Given the description of an element on the screen output the (x, y) to click on. 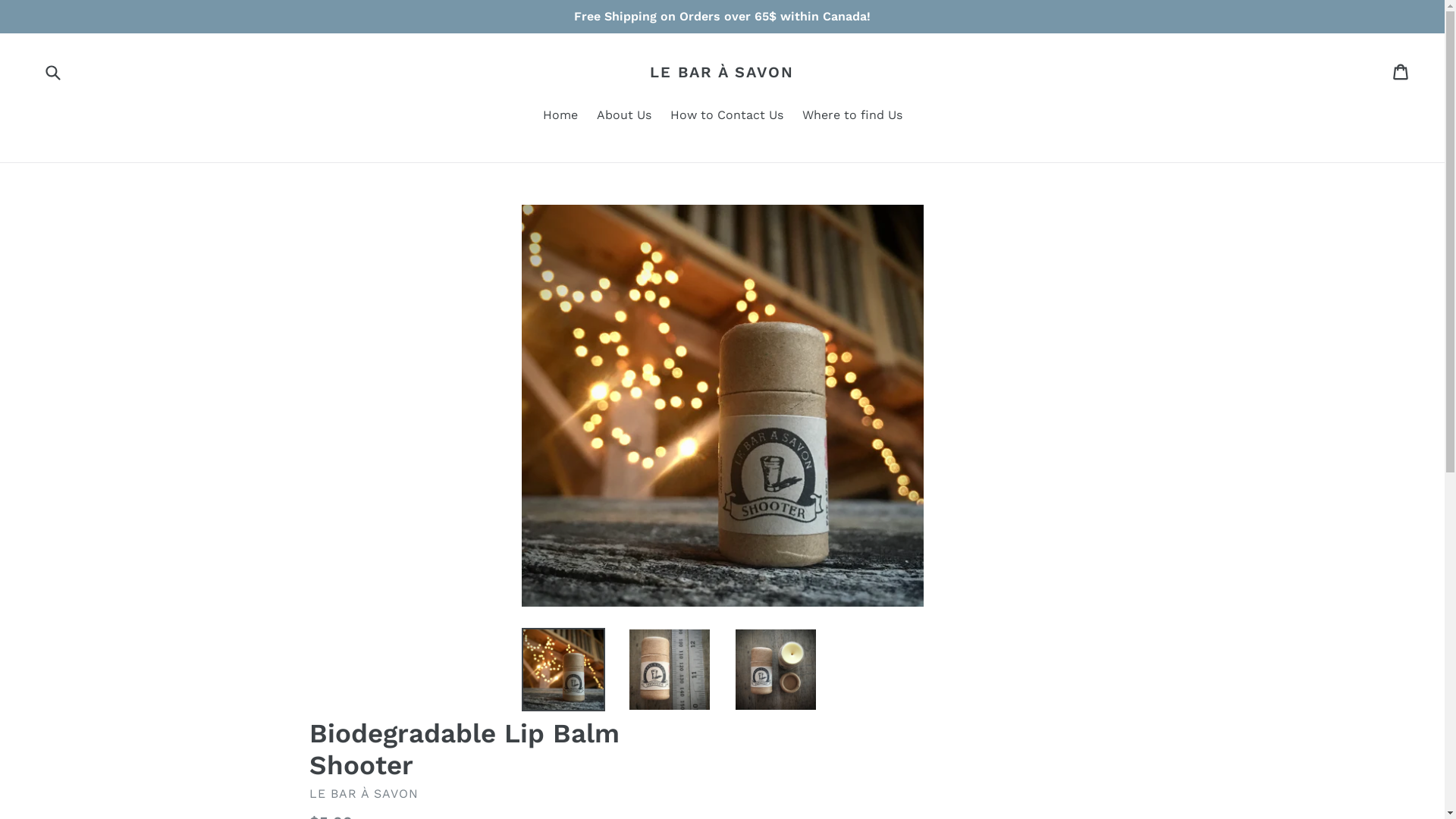
Submit Element type: text (51, 71)
Where to find Us Element type: text (852, 116)
About Us Element type: text (623, 116)
Home Element type: text (560, 116)
How to Contact Us Element type: text (726, 116)
Cart
Cart Element type: text (1401, 71)
